Given the description of an element on the screen output the (x, y) to click on. 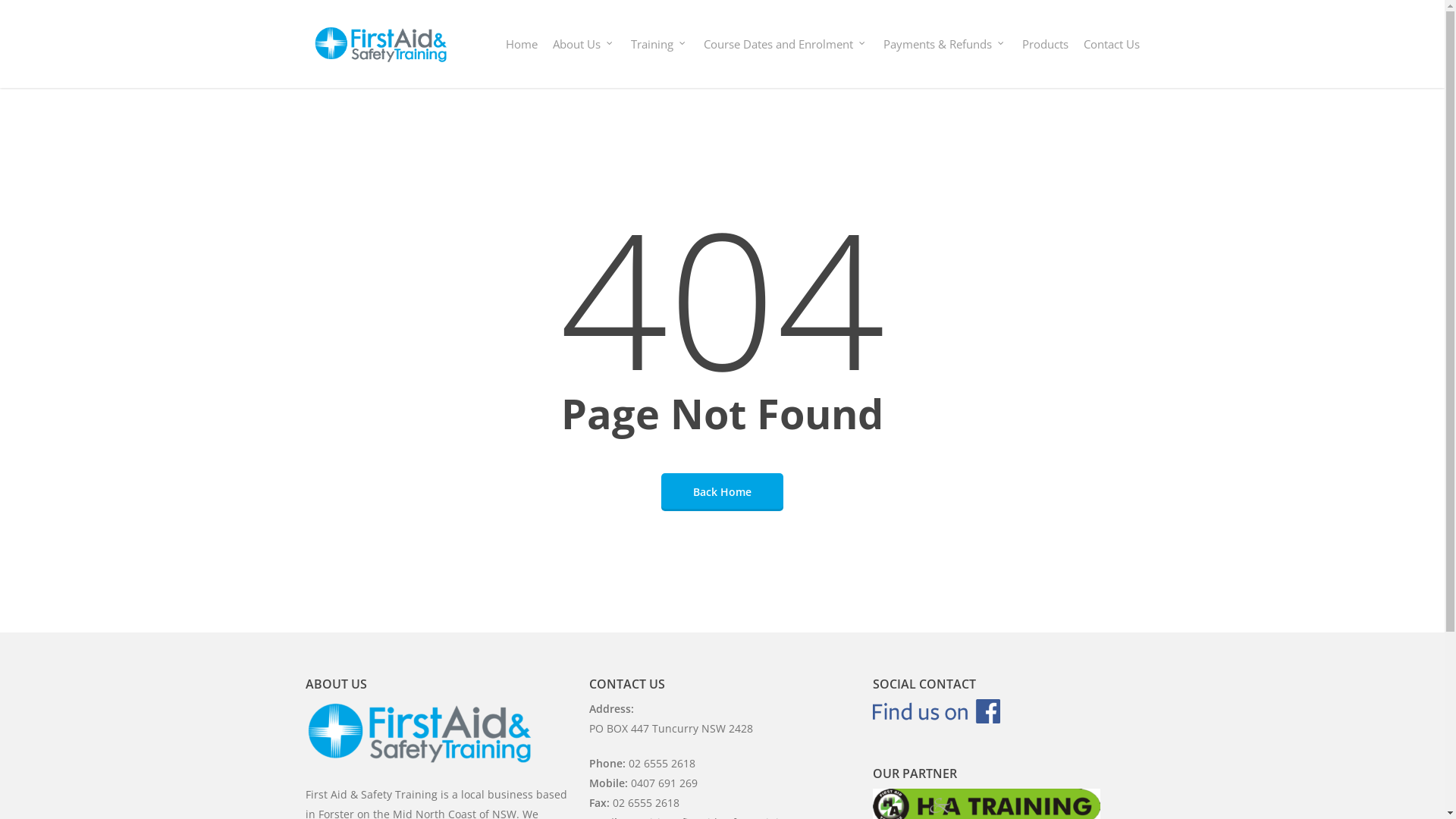
Home Element type: text (520, 43)
About Us Element type: text (583, 43)
Products Element type: text (1045, 43)
Payments & Refunds Element type: text (944, 43)
Contact Us Element type: text (1110, 43)
Course Dates and Enrolment Element type: text (785, 43)
Back Home Element type: text (722, 492)
Training Element type: text (659, 43)
